Given the description of an element on the screen output the (x, y) to click on. 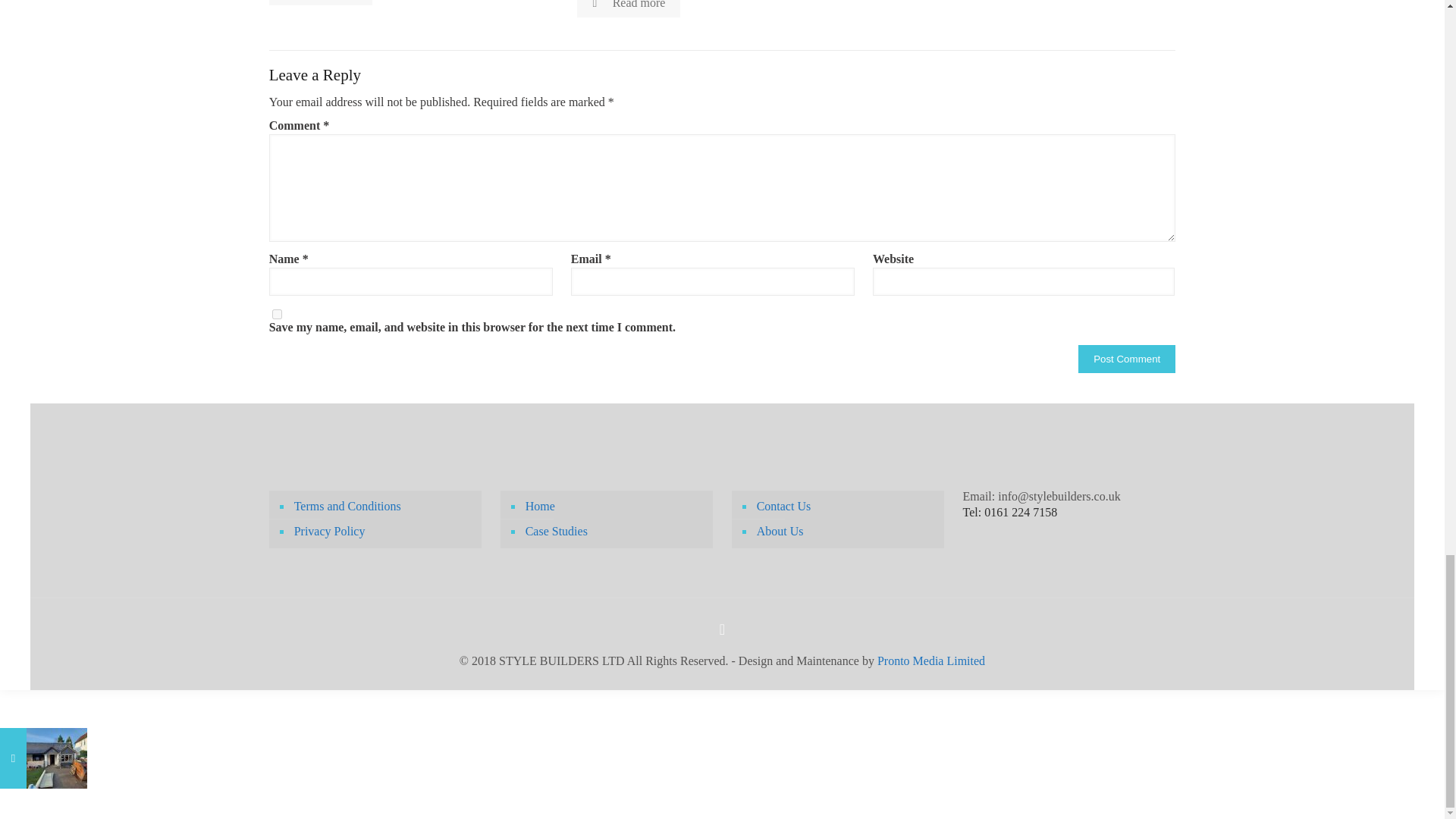
Read more (627, 8)
Privacy Policy (383, 531)
yes (277, 314)
Read more (320, 2)
Terms and Conditions (383, 506)
Post Comment (1126, 358)
Contact Us (845, 506)
Case Studies (614, 531)
Post Comment (1126, 358)
Home (614, 506)
